Given the description of an element on the screen output the (x, y) to click on. 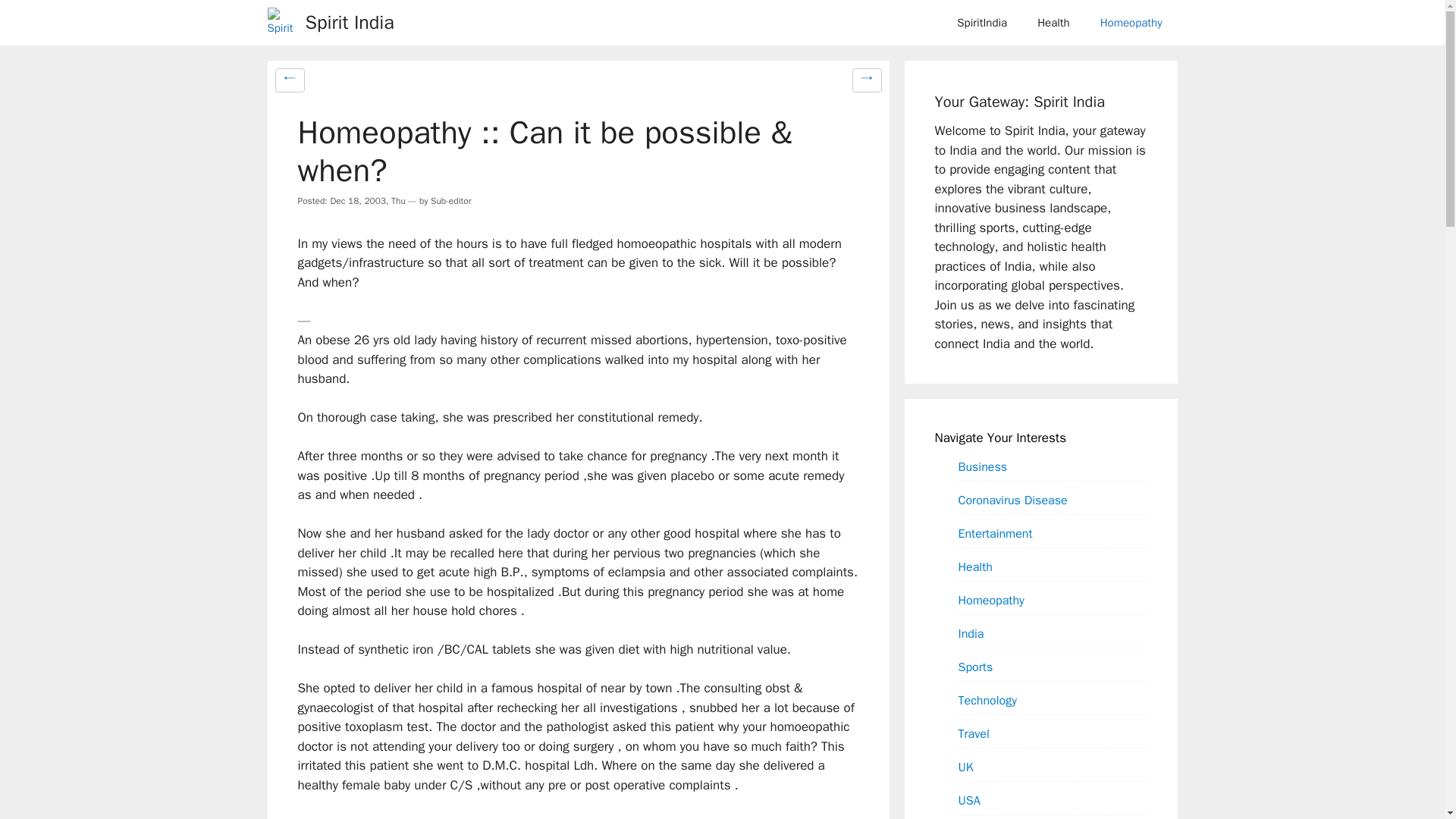
SpiritIndia (982, 22)
Health (1053, 22)
Homeopathy (1130, 22)
Spirit India (348, 22)
